Given the description of an element on the screen output the (x, y) to click on. 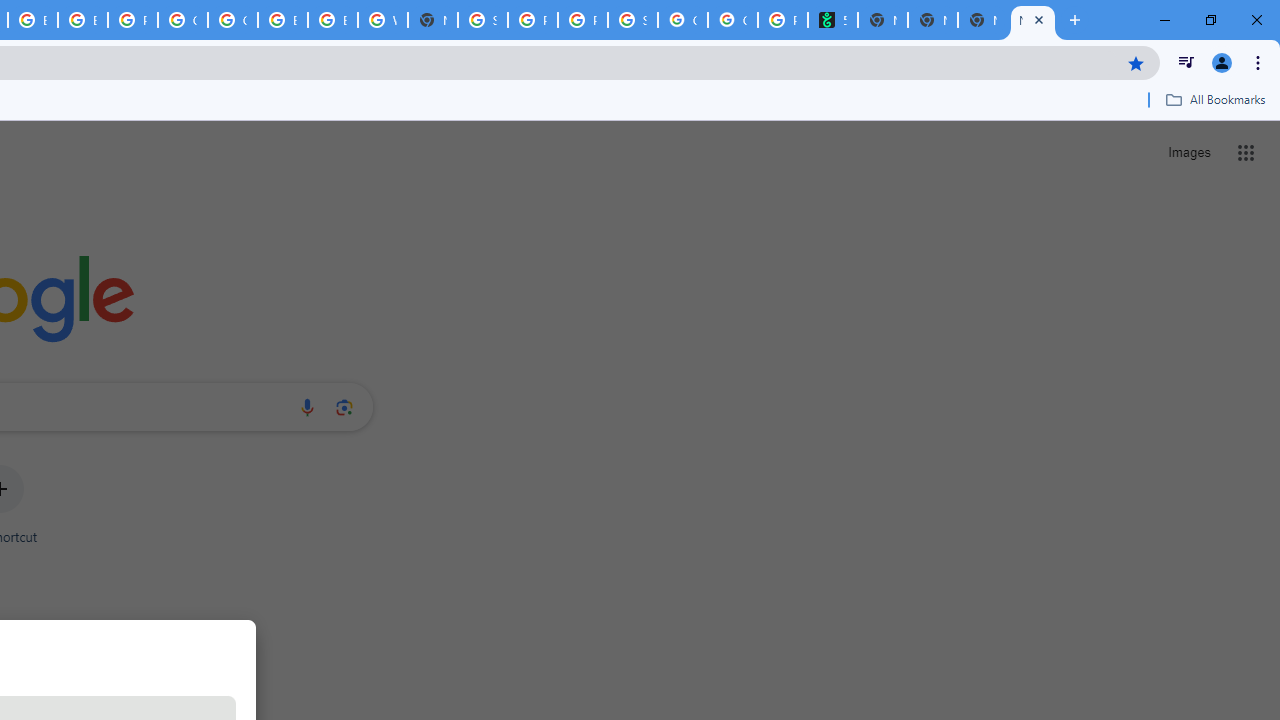
Browse Chrome as a guest - Computer - Google Chrome Help (283, 20)
Sign in - Google Accounts (483, 20)
Google Cloud Platform (182, 20)
